Given the description of an element on the screen output the (x, y) to click on. 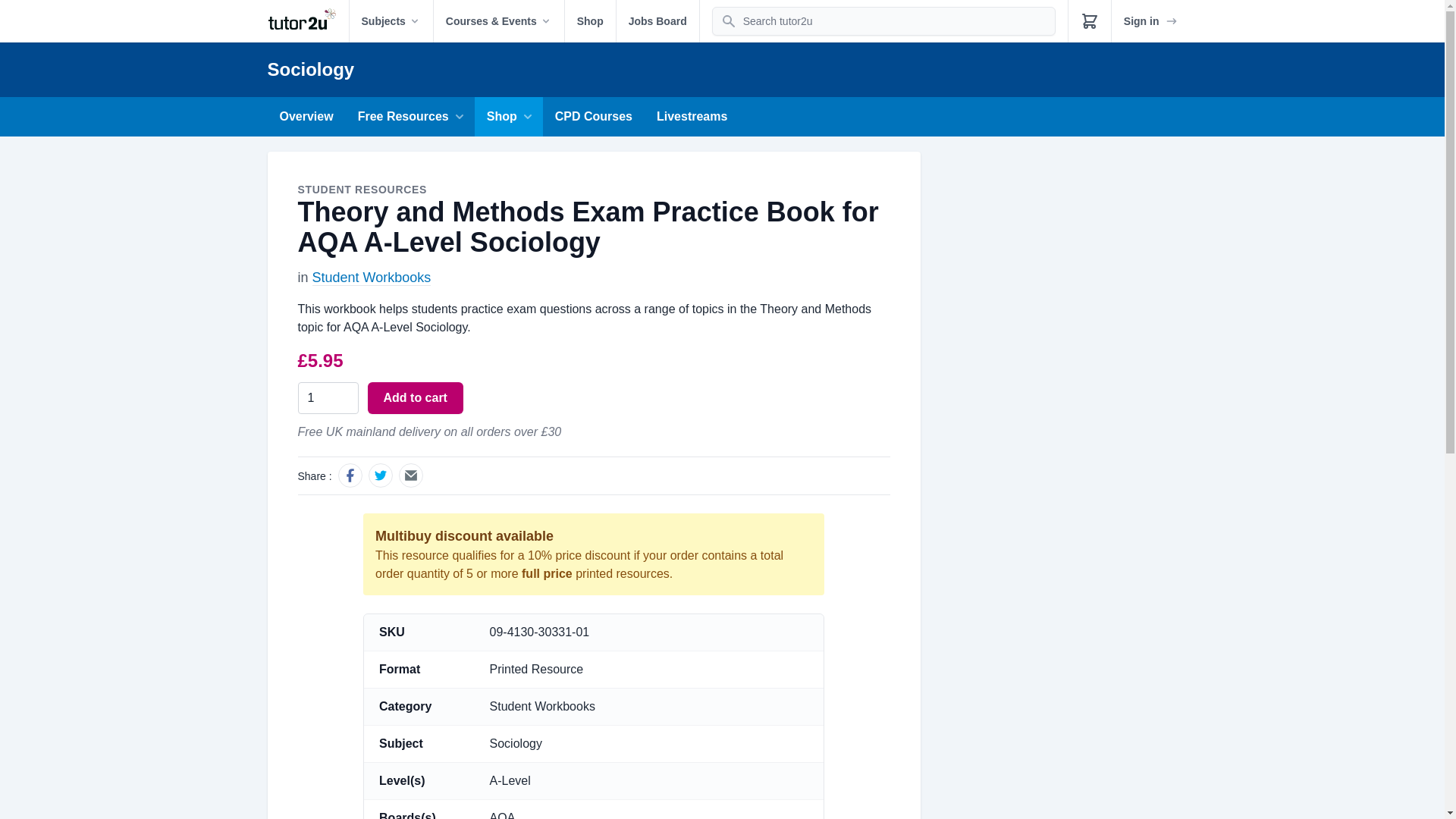
1 (327, 398)
View cart (1089, 21)
Free Resources (410, 116)
Overview (305, 116)
Jobs Board (656, 21)
Sociology (309, 68)
tutor2u (306, 21)
Sign in (1150, 21)
Shop (589, 21)
Subjects (390, 21)
